Given the description of an element on the screen output the (x, y) to click on. 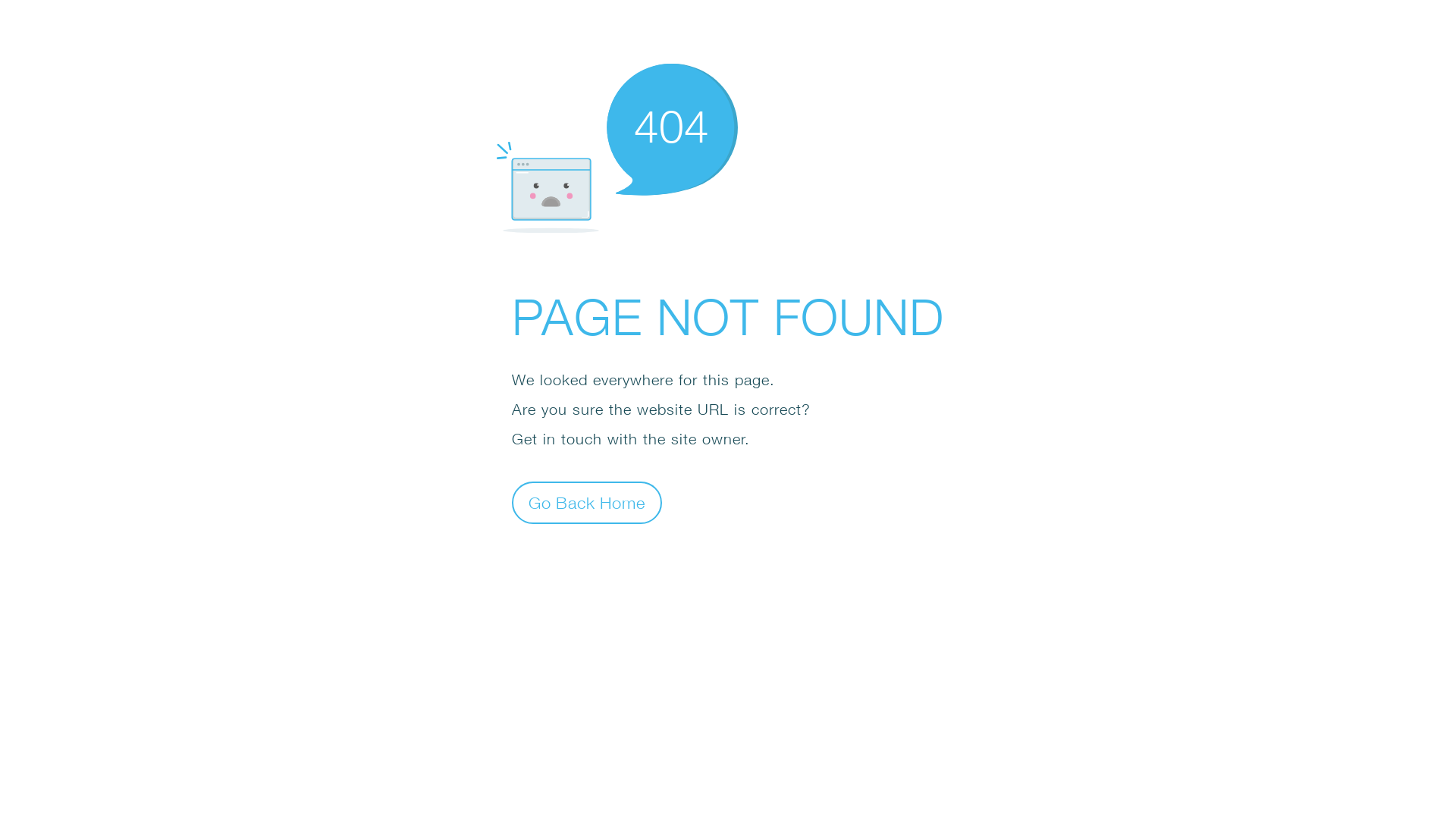
Go Back Home Element type: text (586, 502)
